Given the description of an element on the screen output the (x, y) to click on. 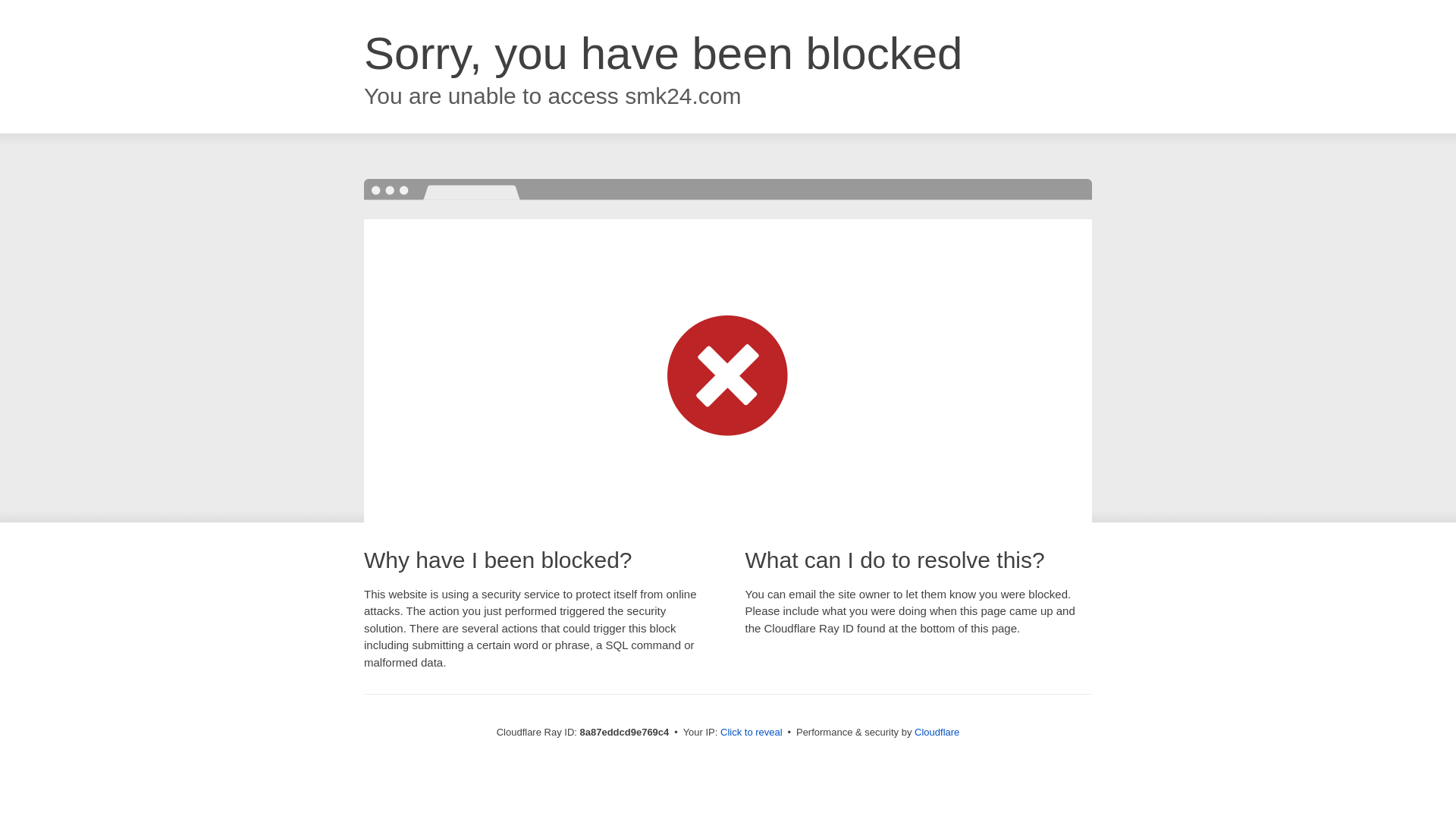
Cloudflare (936, 731)
Click to reveal (751, 732)
